Given the description of an element on the screen output the (x, y) to click on. 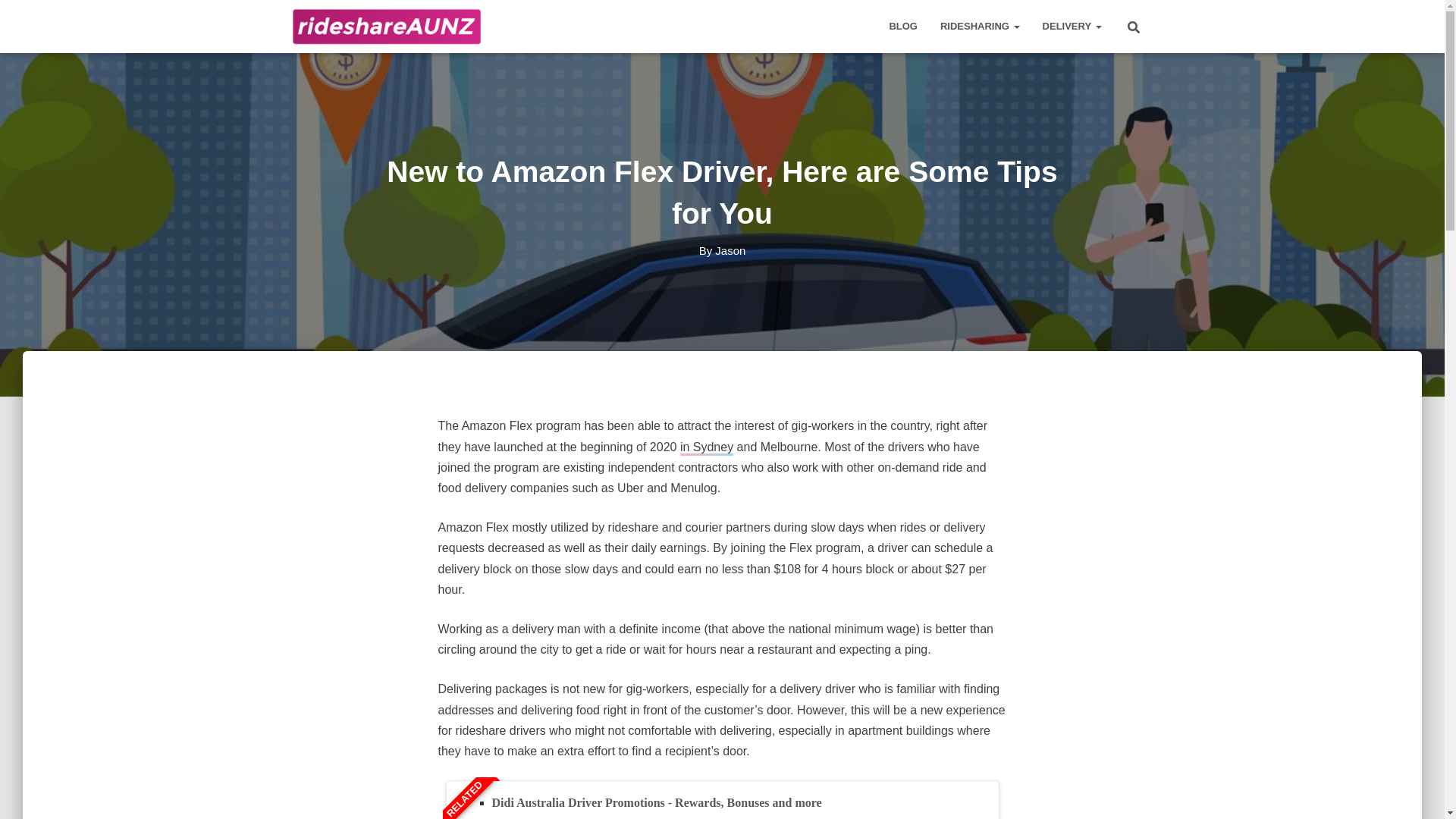
BLOG (902, 26)
Rideshare AU NZ (387, 26)
Didi Australia Driver Promotions - Rewards, Bonuses and more (656, 802)
Blog (902, 26)
Ridesharing (979, 26)
Delivery (1071, 26)
Search (16, 16)
DELIVERY (1071, 26)
RIDESHARING (979, 26)
in Sydney (706, 447)
